Given the description of an element on the screen output the (x, y) to click on. 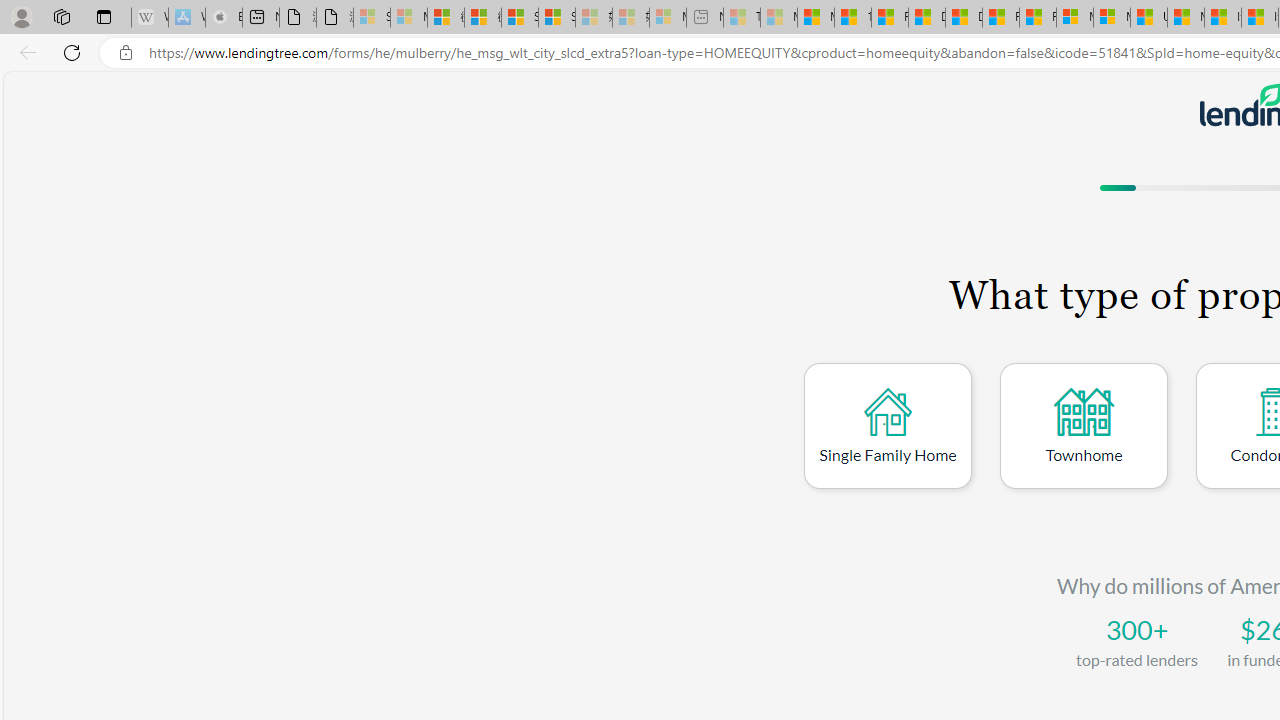
Buy iPad - Apple - Sleeping (223, 17)
Microsoft account | Account Checkup - Sleeping (668, 17)
Sign in to your Microsoft account - Sleeping (372, 17)
